Given the description of an element on the screen output the (x, y) to click on. 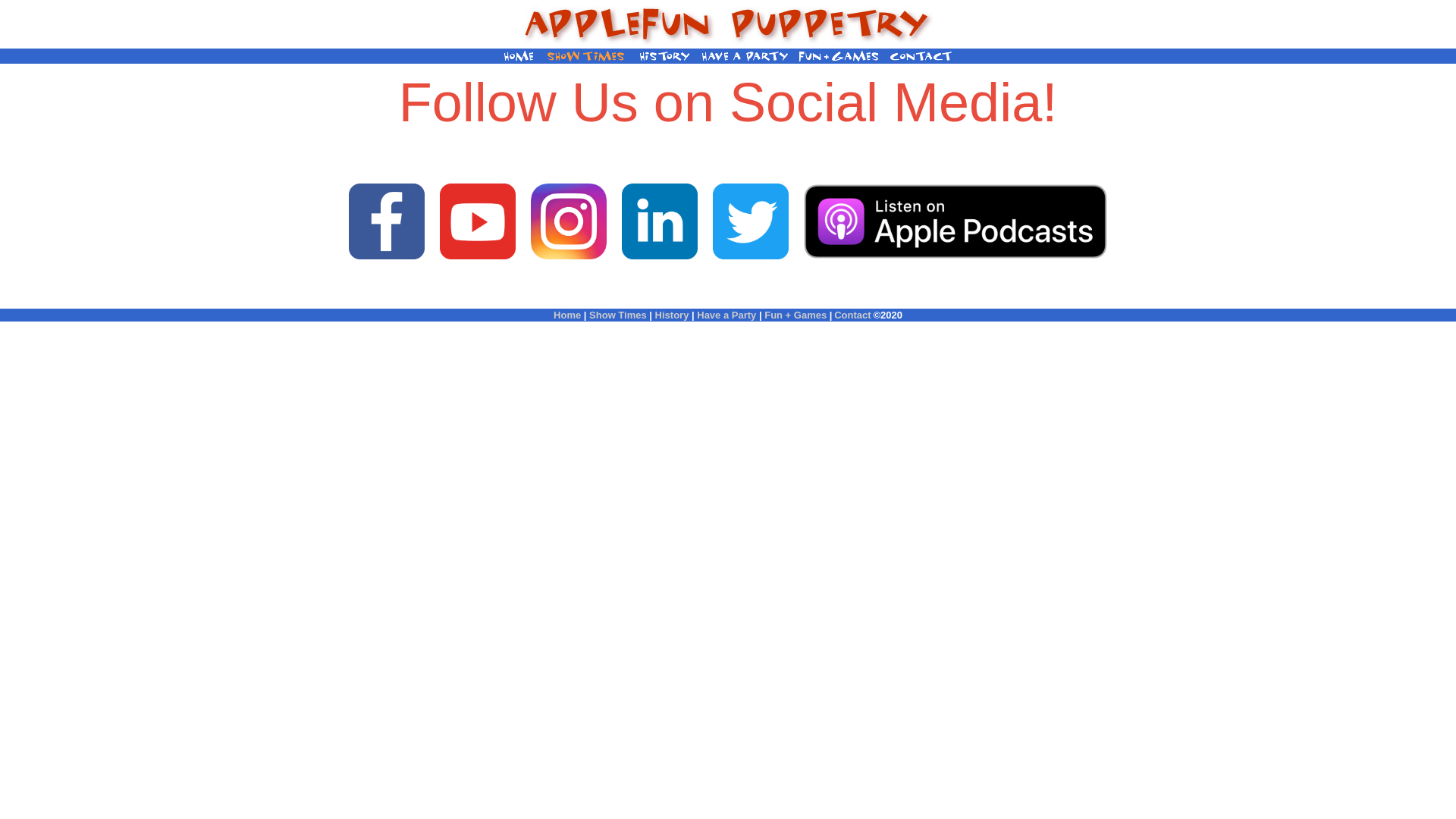
Have a Party Element type: text (726, 314)
Home Element type: text (566, 314)
Contact Element type: text (852, 315)
Show Times Element type: text (617, 314)
Fun + Games Element type: text (795, 314)
History Element type: text (672, 314)
